Given the description of an element on the screen output the (x, y) to click on. 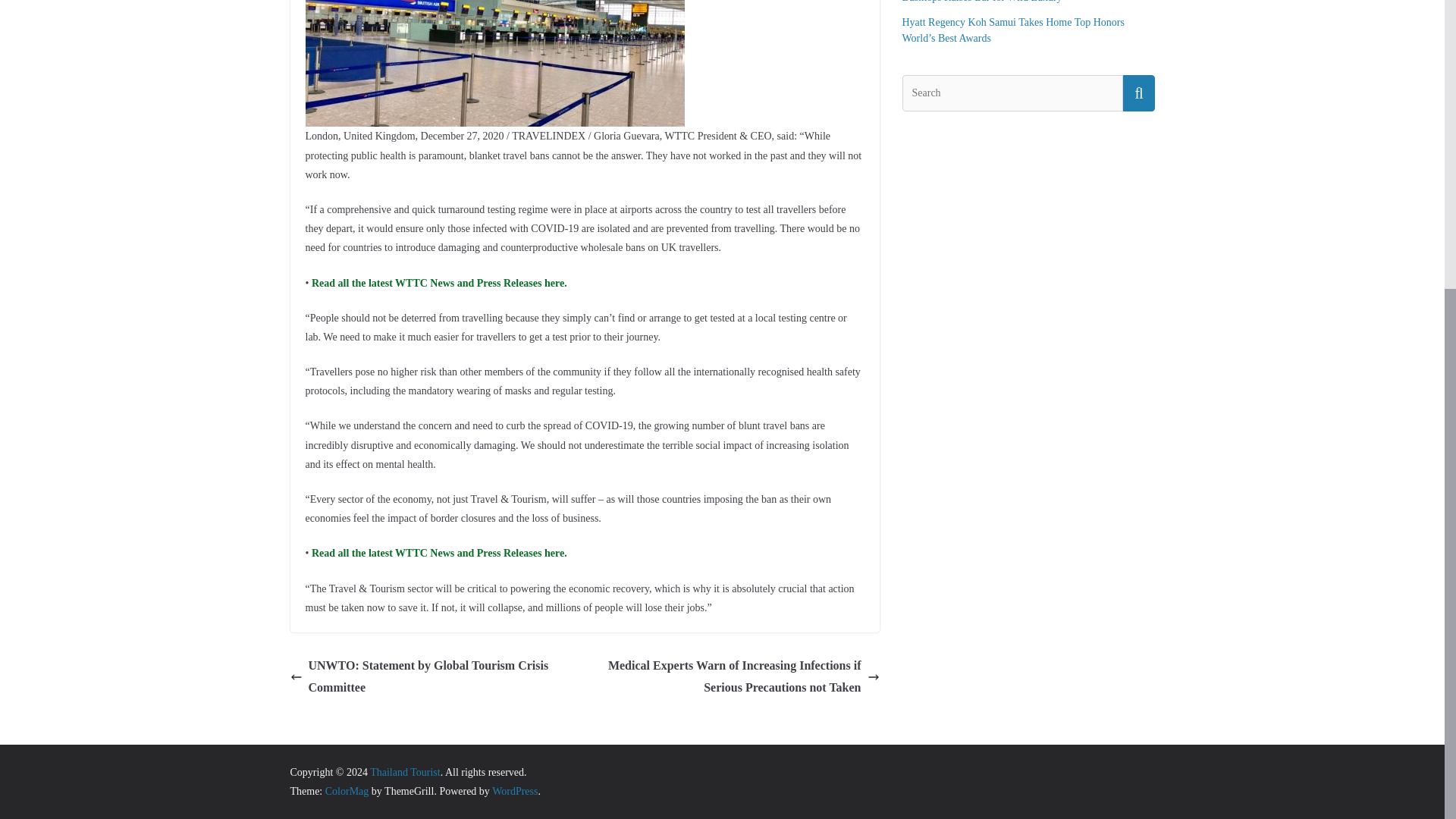
WordPress (514, 790)
Thailand Tourist (404, 772)
ColorMag (346, 790)
